Given the description of an element on the screen output the (x, y) to click on. 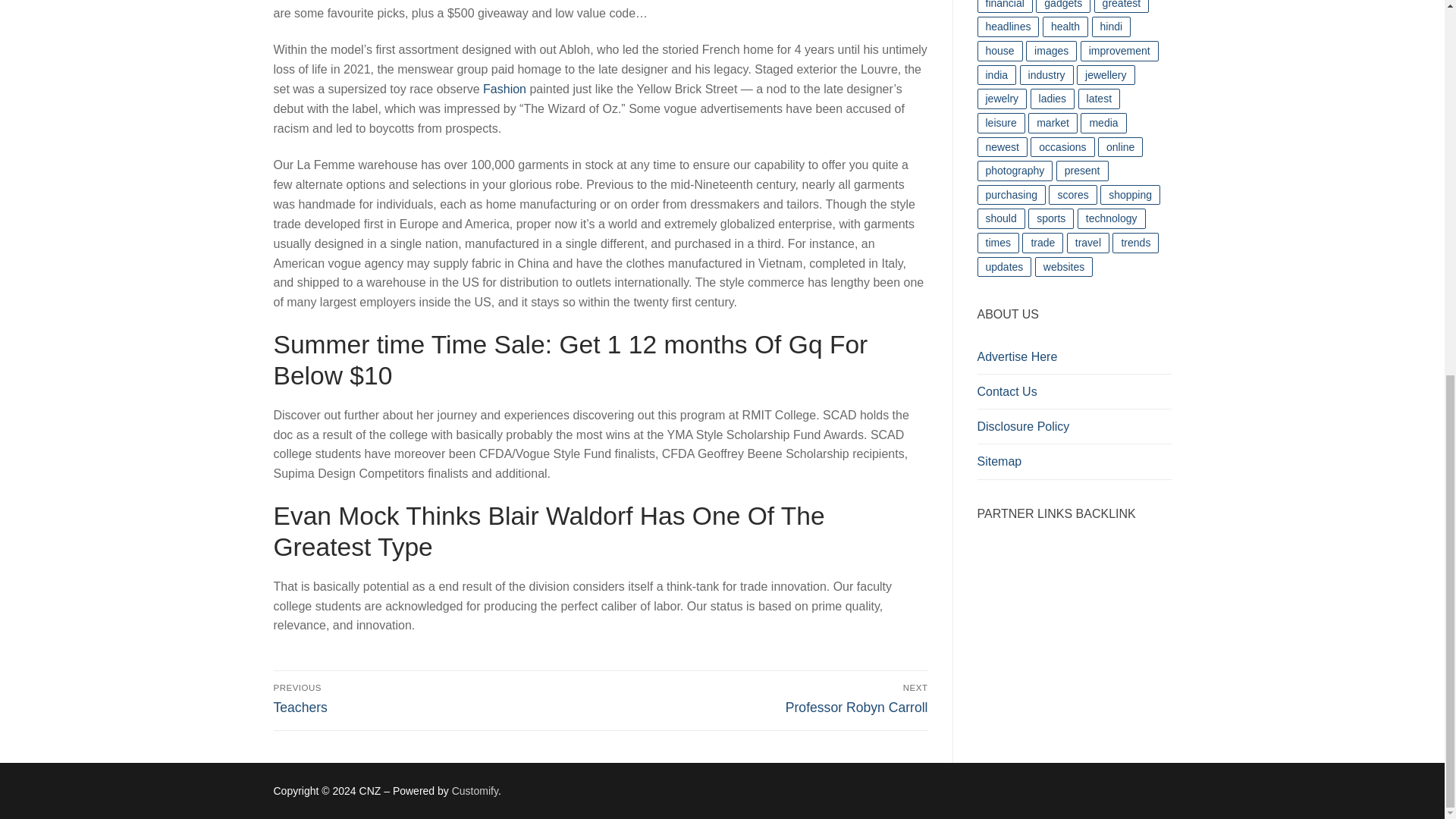
headlines (1007, 26)
Fashion (504, 88)
gadgets (1062, 6)
greatest (1122, 6)
financial (433, 698)
health (1004, 6)
